Given the description of an element on the screen output the (x, y) to click on. 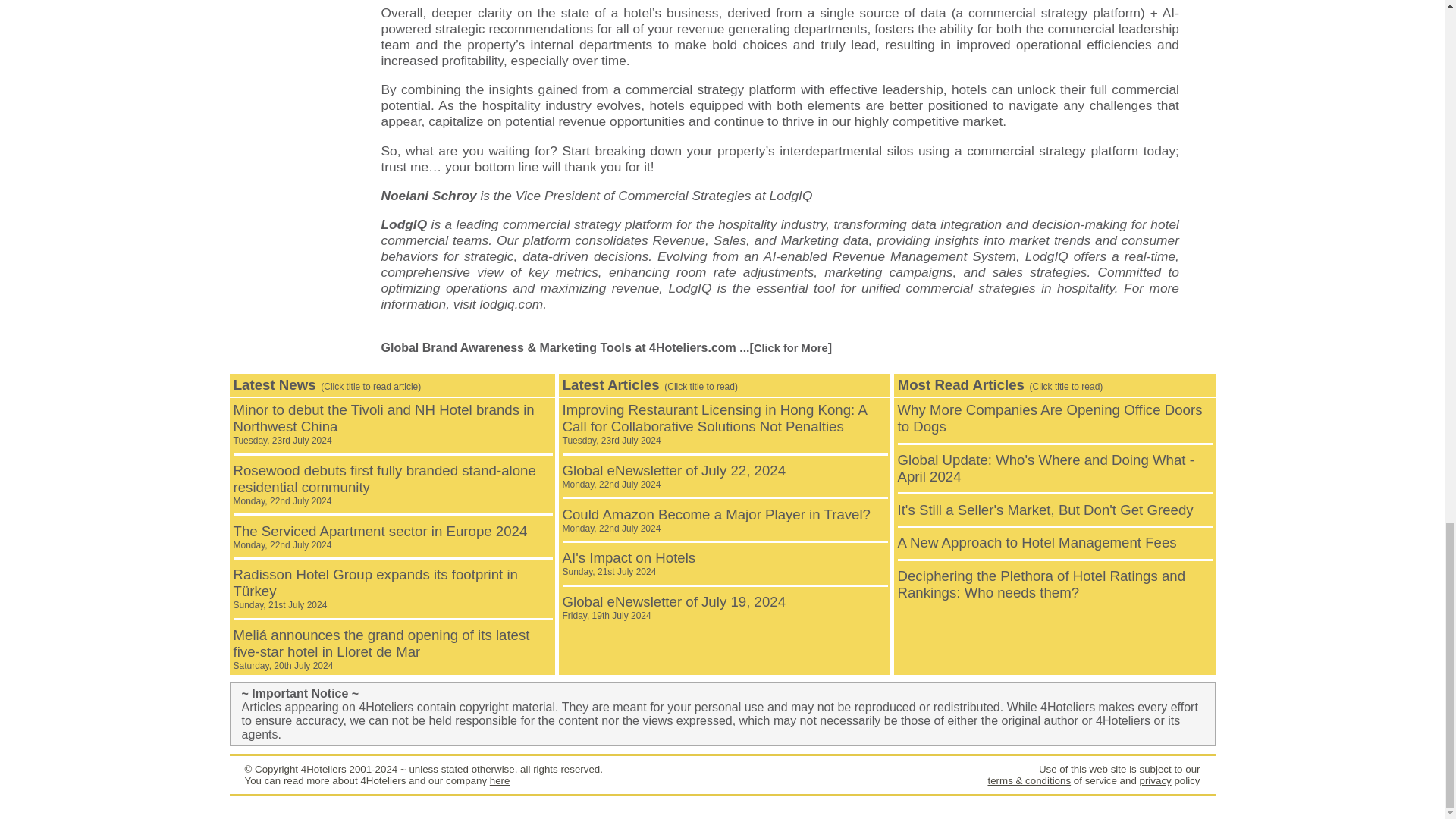
Global Update: Who's Where and Doing What - April 2024 (1045, 468)
It's Still a Seller's Market, But Don't Get Greedy (1045, 509)
privacy (1154, 780)
Click to read article (674, 476)
Why More Companies Are Opening Office Doors to Dogs (383, 484)
Click to read article (1050, 418)
A New Approach to Hotel Management Fees (674, 607)
Click to read more (379, 537)
